Given the description of an element on the screen output the (x, y) to click on. 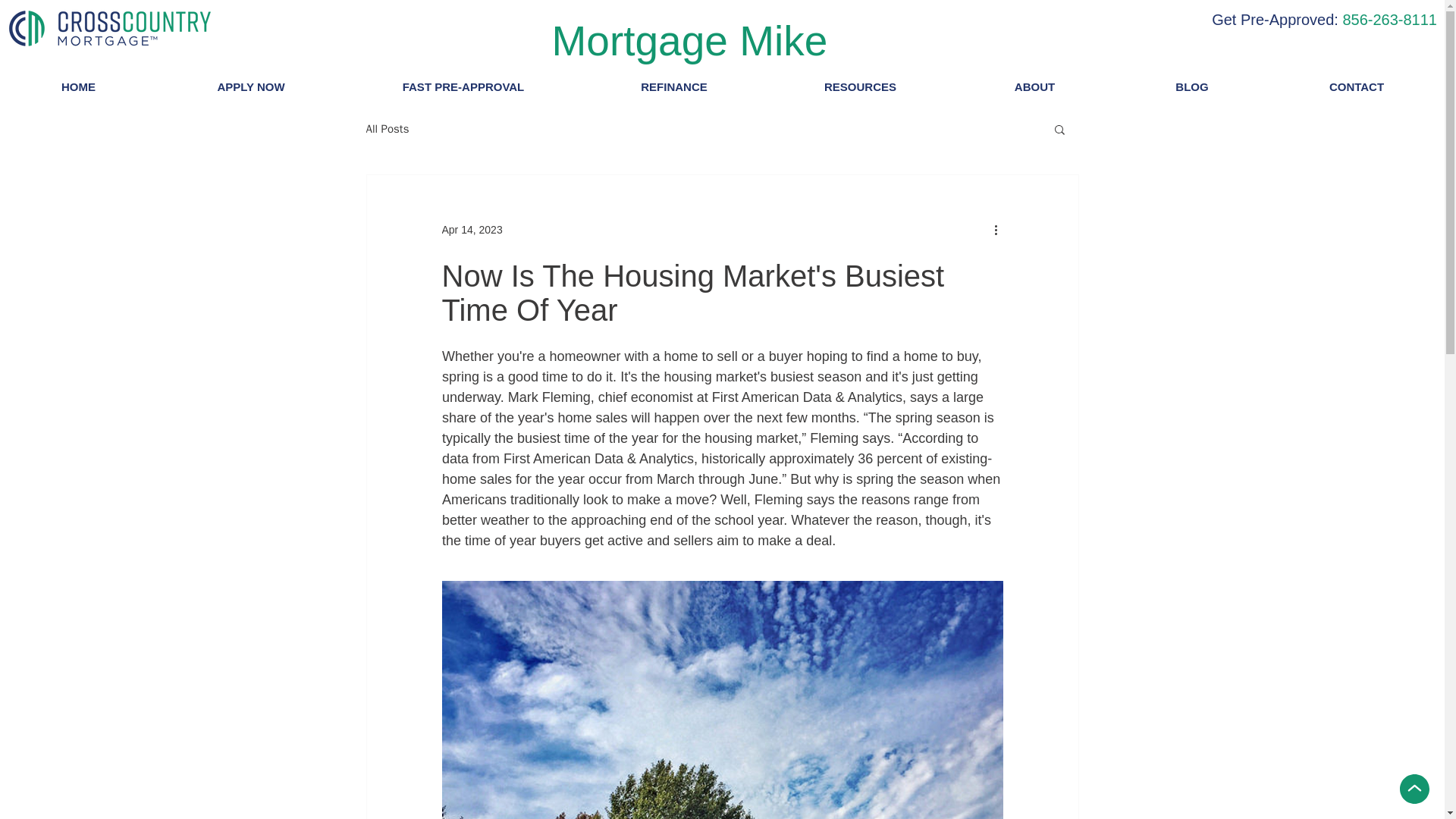
Apr 14, 2023 (471, 228)
FAST PRE-APPROVAL (462, 87)
APPLY NOW (251, 87)
All Posts (387, 128)
Get Pre-Approved: (1274, 19)
BLOG (1191, 87)
ABOUT (1034, 87)
REFINANCE (673, 87)
HOME (78, 87)
856-263-8111 (1389, 19)
